Given the description of an element on the screen output the (x, y) to click on. 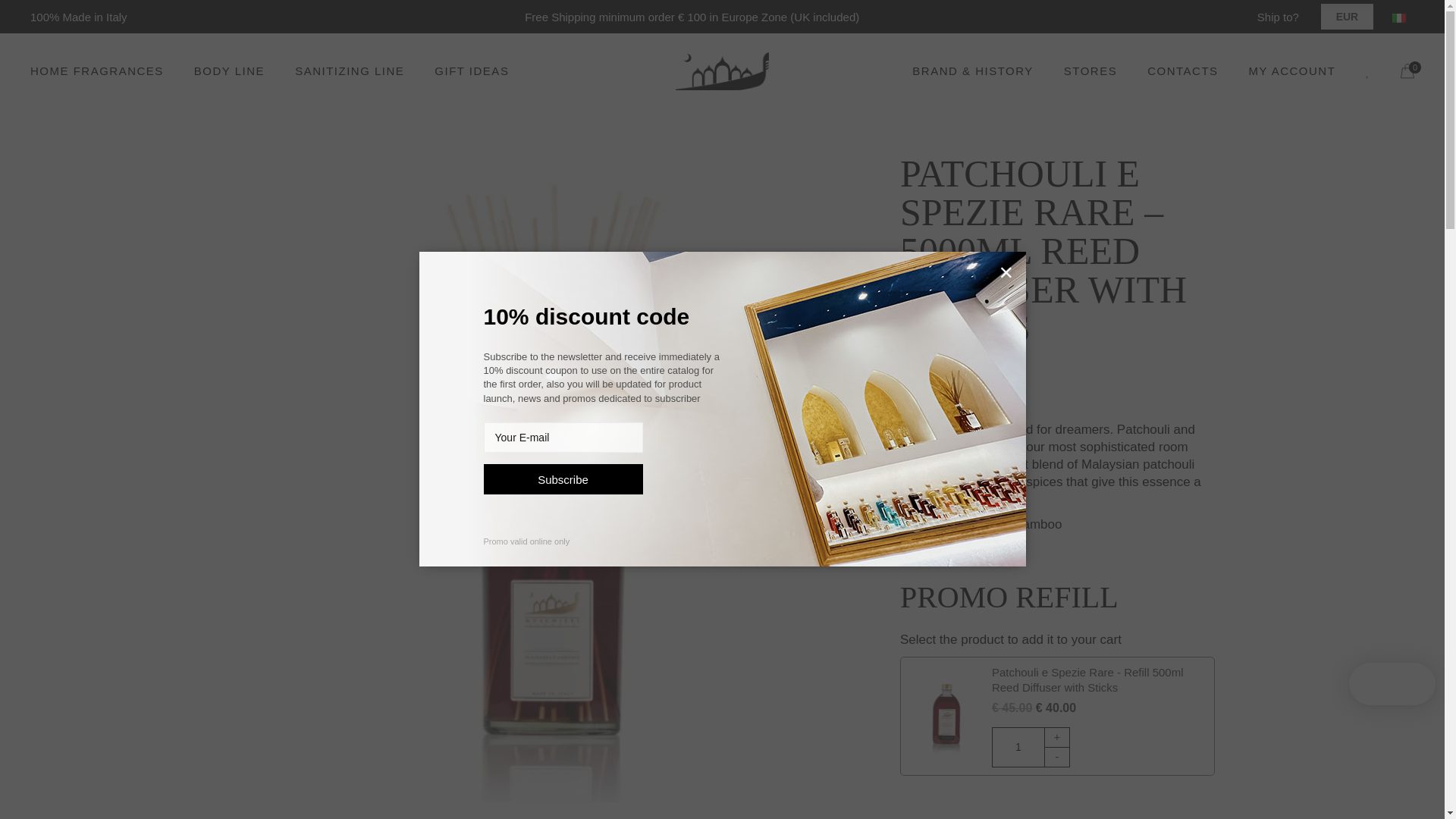
Ship to? (1277, 16)
MY ACCOUNT (1292, 70)
1 (1018, 747)
CONTACTS (1182, 70)
GIFT IDEAS (470, 70)
EUR (1346, 16)
Qty (1018, 747)
Smartsupp widget button (1392, 683)
BODY LINE (228, 70)
SANITIZING LINE (349, 70)
HOME FRAGRANCES (96, 70)
